Given the description of an element on the screen output the (x, y) to click on. 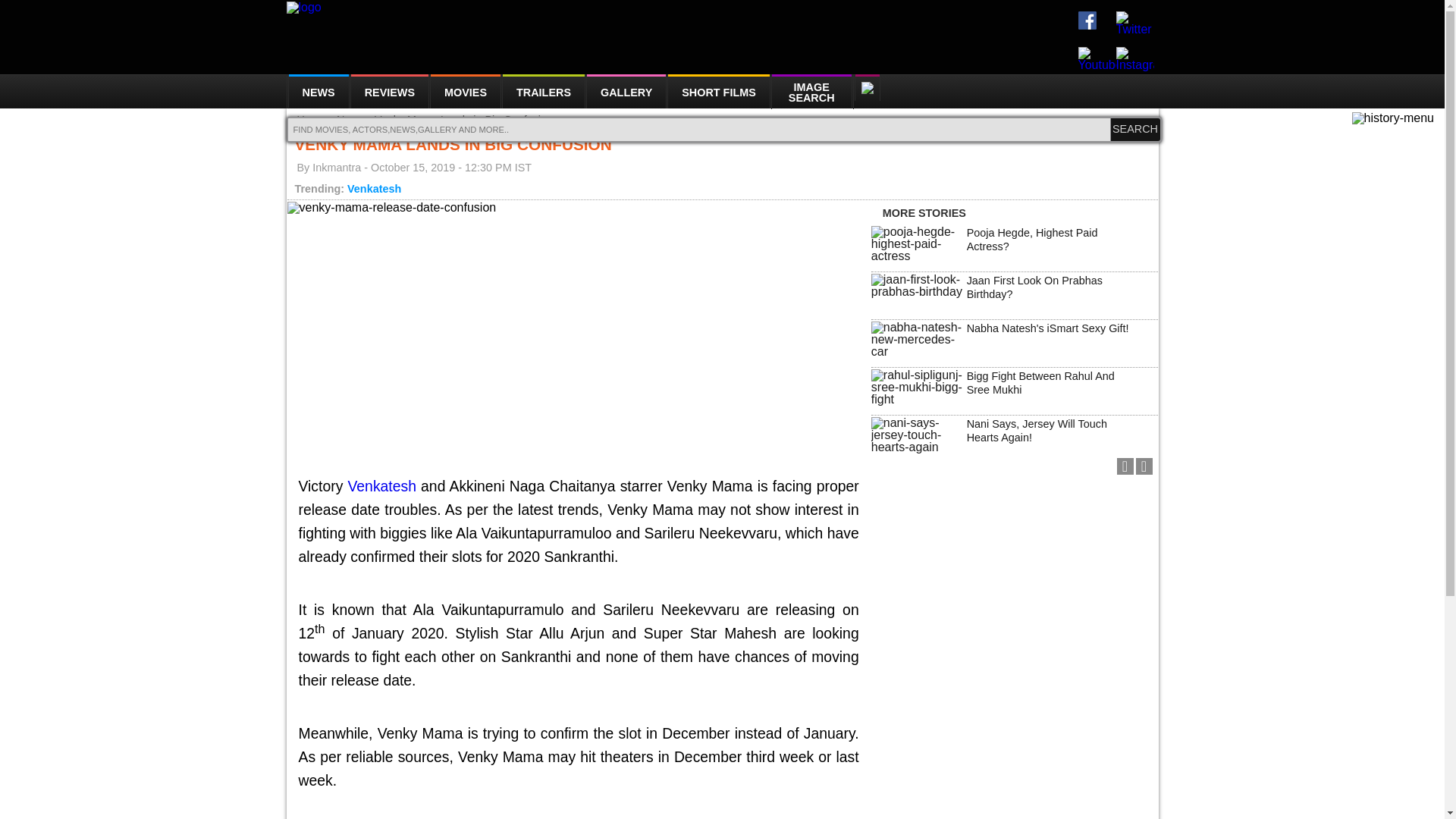
MOVIES (465, 91)
REVIEWS (389, 91)
iQlik - Home (303, 7)
TRAILERS (543, 91)
Next (1144, 466)
Previous (1124, 466)
GALLERY (625, 91)
NEWS (316, 91)
